Given the description of an element on the screen output the (x, y) to click on. 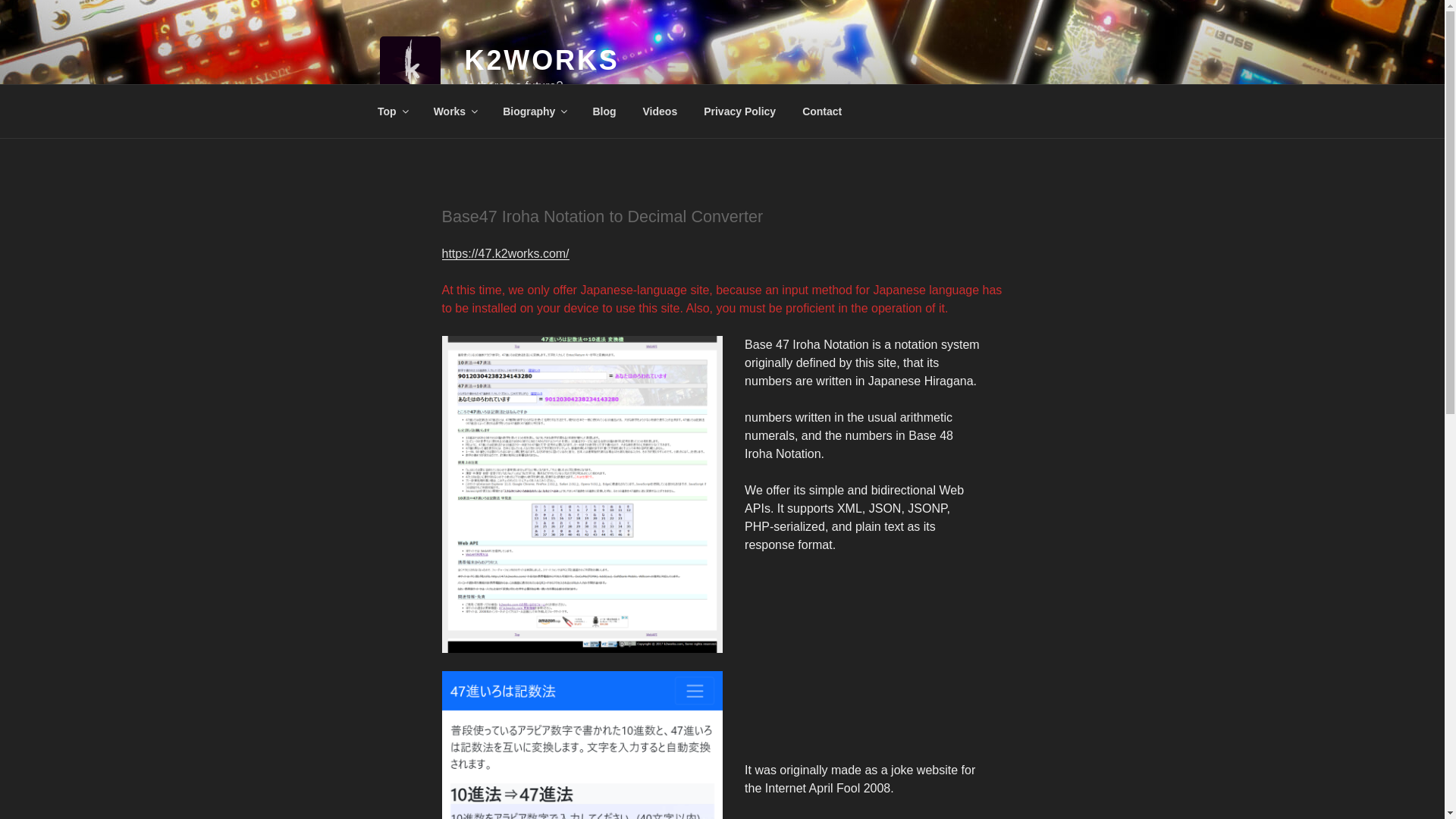
Works (454, 110)
Blog (603, 110)
Biography (534, 110)
Privacy Policy (739, 110)
K2WORKS (541, 60)
Contact (822, 110)
Top (392, 110)
Videos (659, 110)
